Given the description of an element on the screen output the (x, y) to click on. 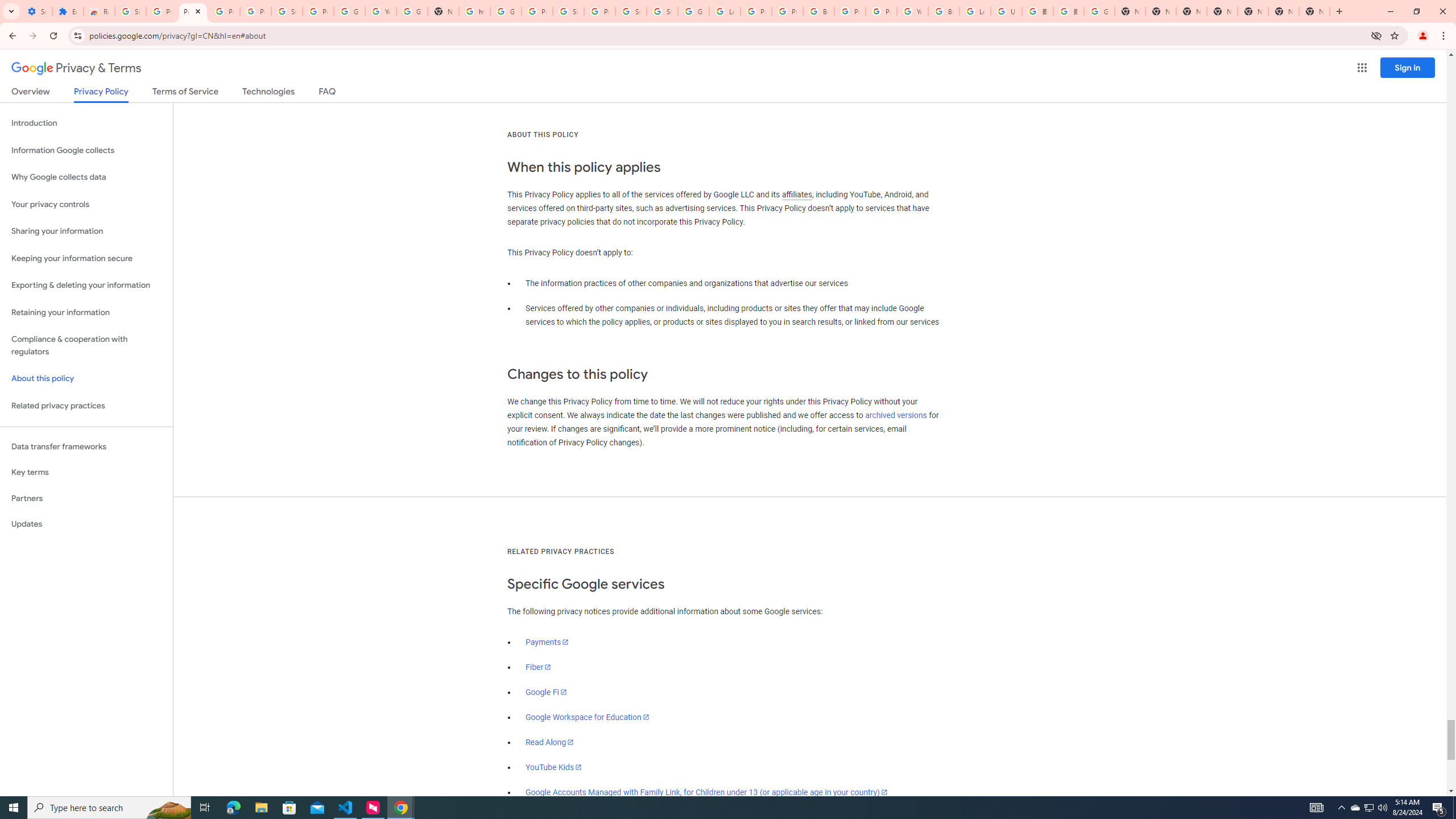
Payments (547, 642)
Privacy Help Center - Policies Help (787, 11)
YouTube (380, 11)
Data transfer frameworks (86, 446)
Google Fi (545, 691)
Google Workspace for Education (587, 716)
Key terms (86, 472)
Sign in - Google Accounts (631, 11)
